Given the description of an element on the screen output the (x, y) to click on. 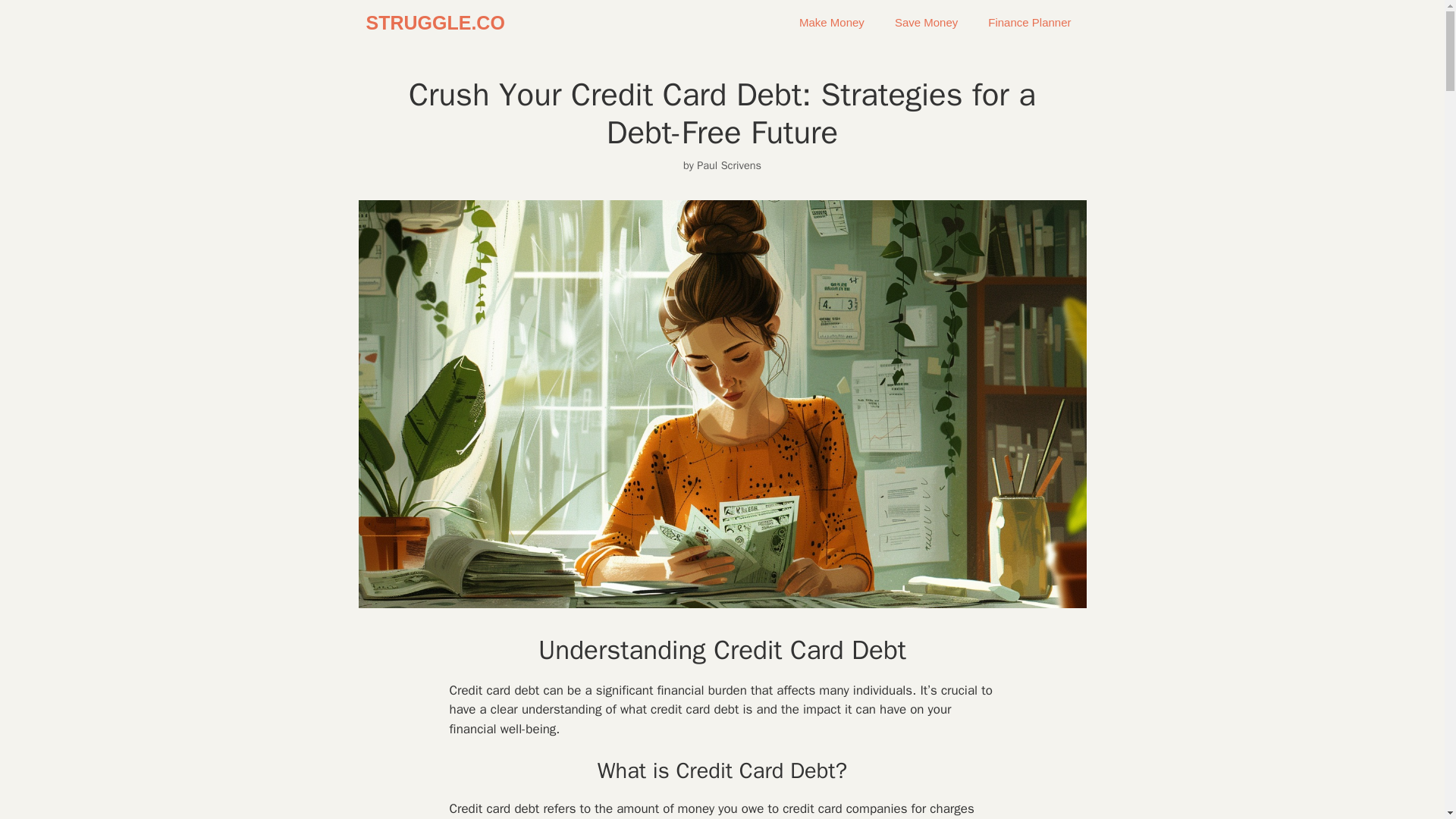
Make Money (831, 22)
STRUGGLE.CO (434, 22)
Save Money (925, 22)
Finance Planner (1029, 22)
View all posts by Paul Scrivens (729, 164)
Paul Scrivens (729, 164)
